Given the description of an element on the screen output the (x, y) to click on. 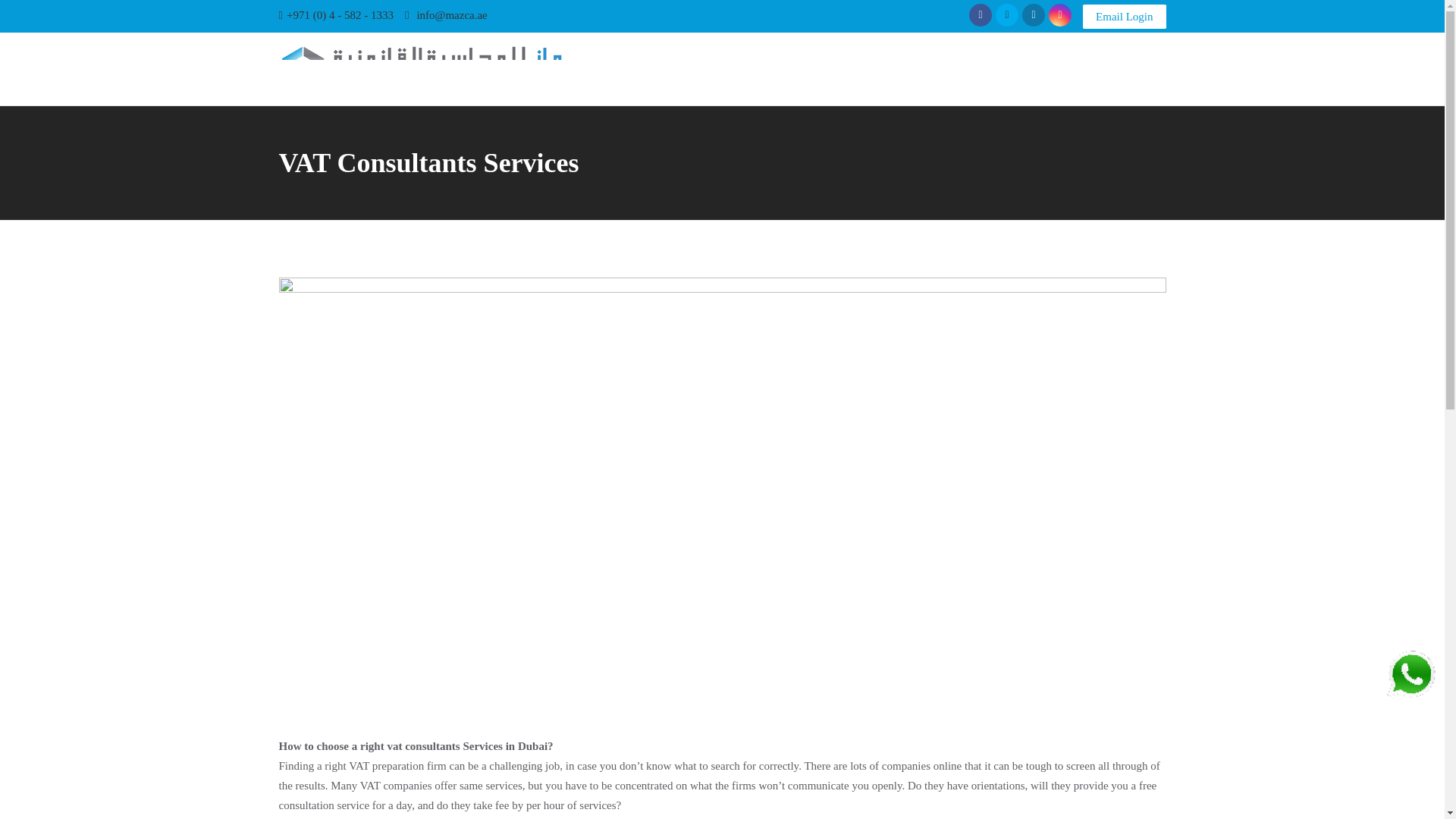
CAREERS (1042, 68)
CONTACT US (1121, 68)
LATEST NEWS (865, 68)
ABOUT US (708, 68)
Email Login (1124, 16)
CAREERS (1042, 68)
SERVICES (782, 68)
LATEST NEWS (865, 68)
CONTACT US (1121, 68)
ABOUT US (708, 68)
